Given the description of an element on the screen output the (x, y) to click on. 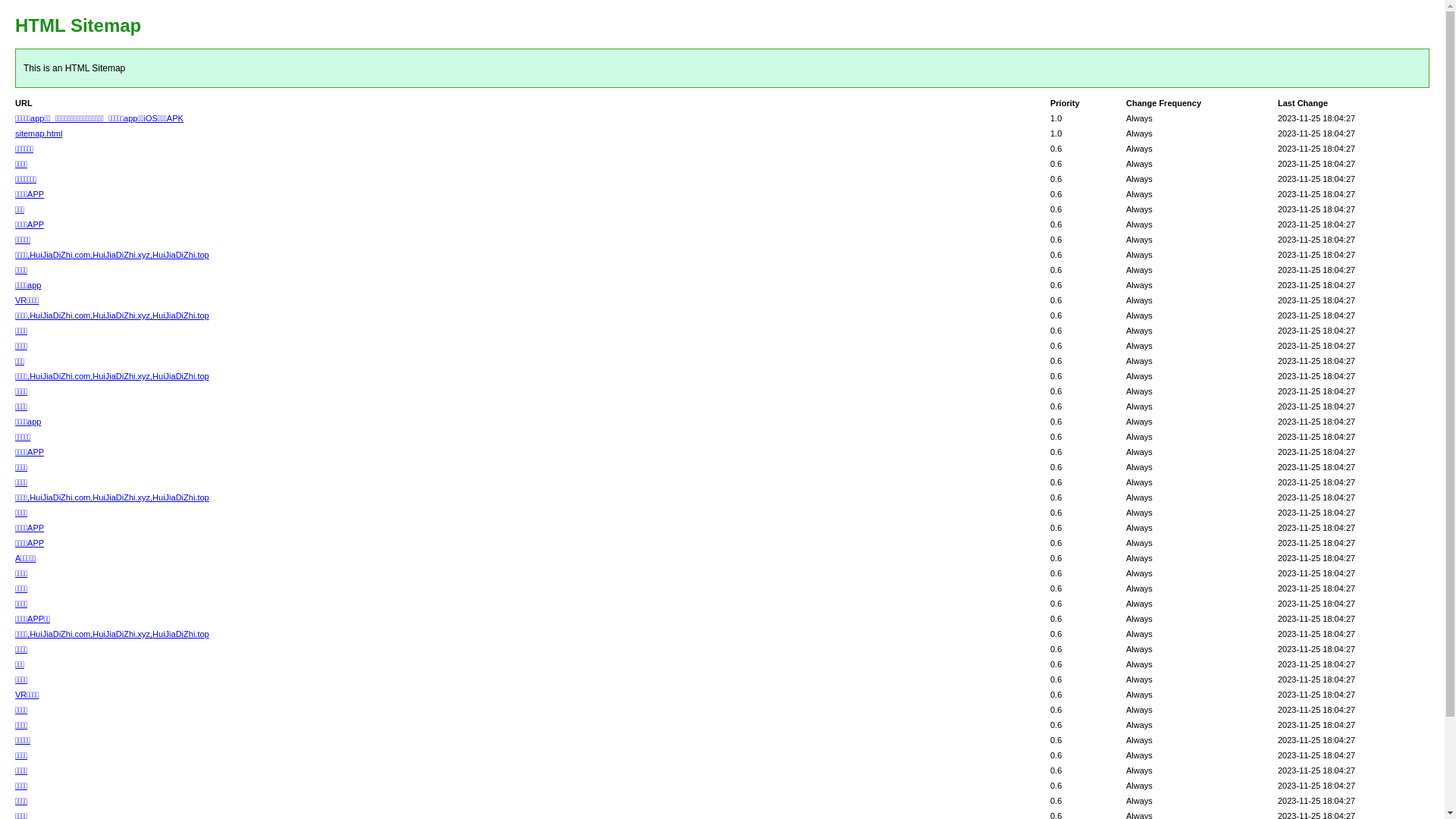
sitemap.html Element type: text (38, 133)
